Given the description of an element on the screen output the (x, y) to click on. 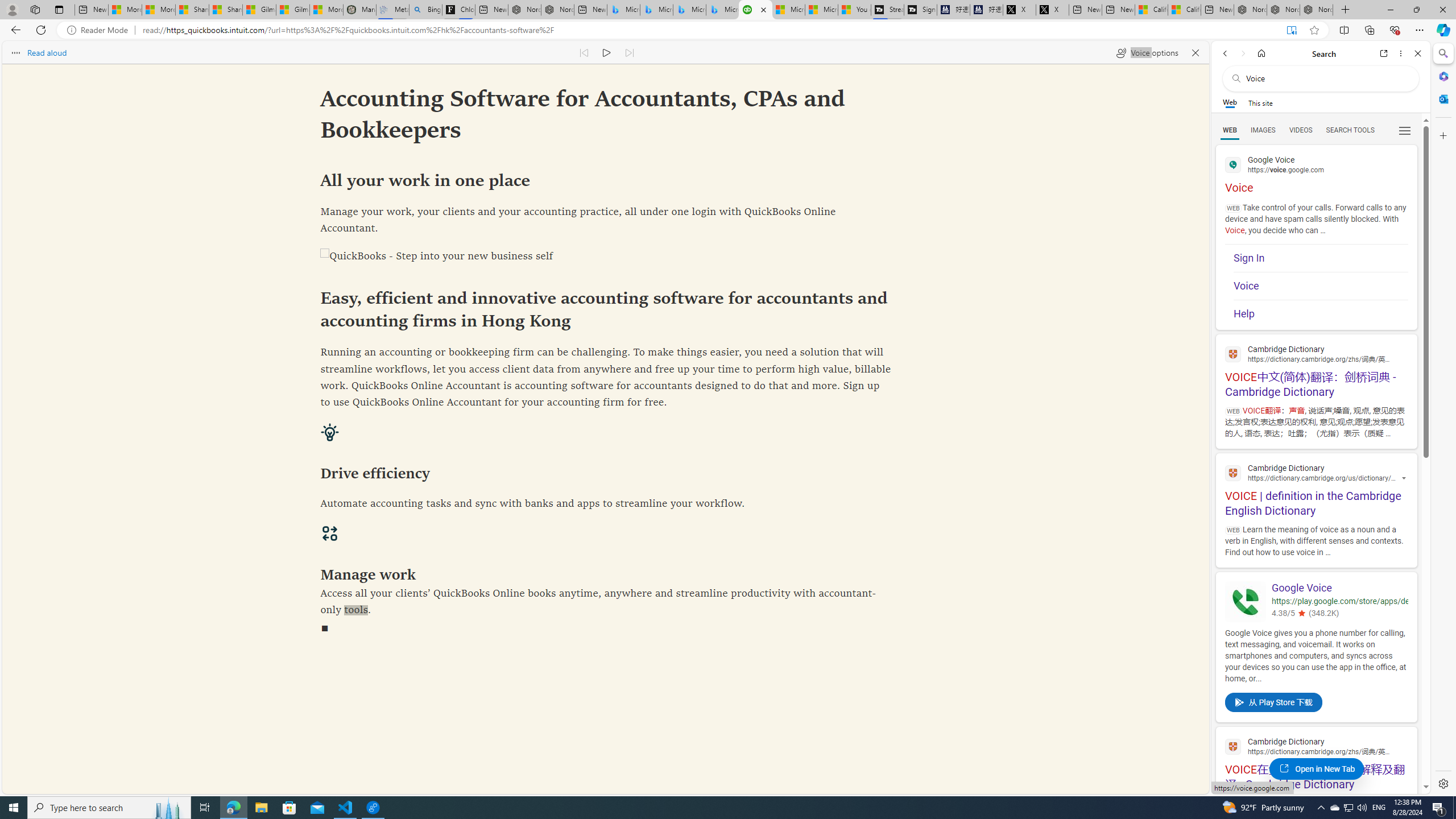
Streaming Coverage | T3 (887, 9)
Web scope (1230, 102)
Search Filter, Search Tools (1350, 129)
Preferences (1403, 129)
Home (1261, 53)
Accounting Software for Accountants, CPAs and Bookkeepers (755, 9)
Class: b_serphb (1404, 130)
Search the web (1326, 78)
